Given the description of an element on the screen output the (x, y) to click on. 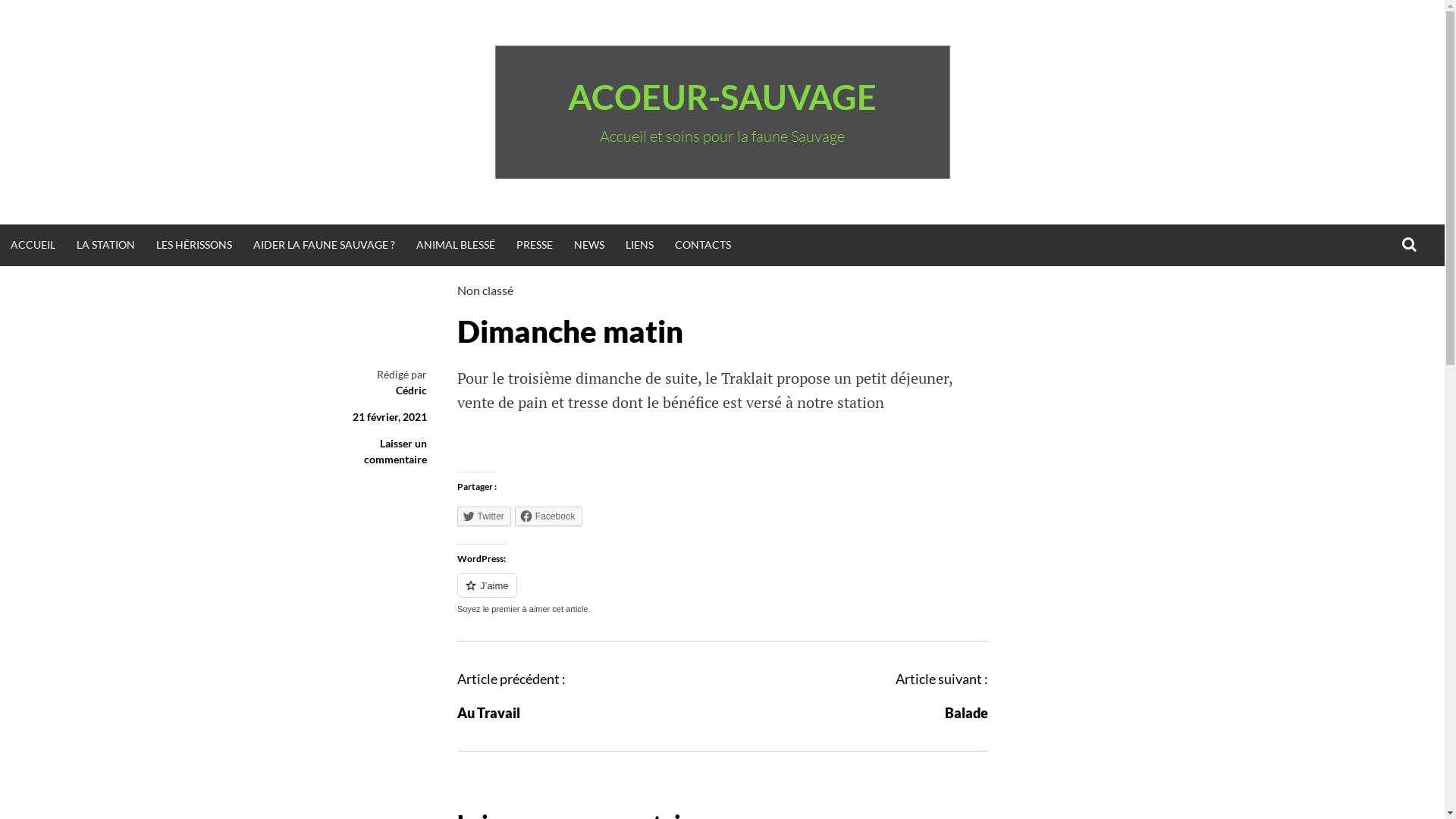
ACOEUR-SAUVAGE Element type: text (721, 96)
Twitter Element type: text (483, 516)
Laisser un commentaire Element type: text (395, 450)
NEWS Element type: text (589, 245)
ACCUEIL Element type: text (32, 245)
Rechercher Element type: text (63, 18)
LA STATION Element type: text (105, 245)
Au Travail Element type: text (487, 712)
Balade Element type: text (966, 712)
CONTACTS Element type: text (702, 245)
AIDER LA FAUNE SAUVAGE ? Element type: text (323, 245)
PRESSE Element type: text (534, 245)
LIENS Element type: text (639, 245)
RECHERCHE Element type: text (1408, 244)
Facebook Element type: text (548, 516)
